Given the description of an element on the screen output the (x, y) to click on. 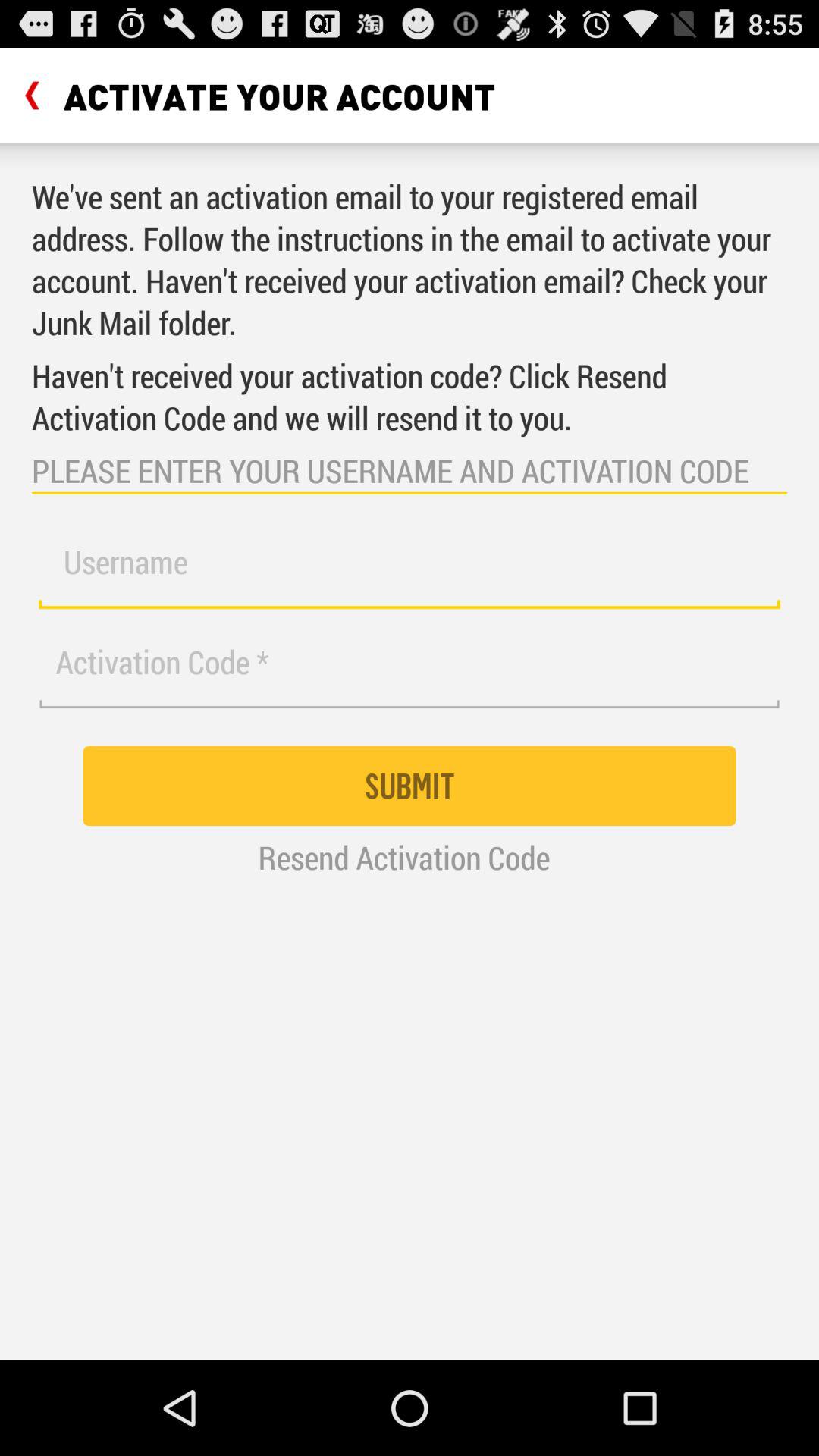
click item above resend activation code icon (409, 785)
